Given the description of an element on the screen output the (x, y) to click on. 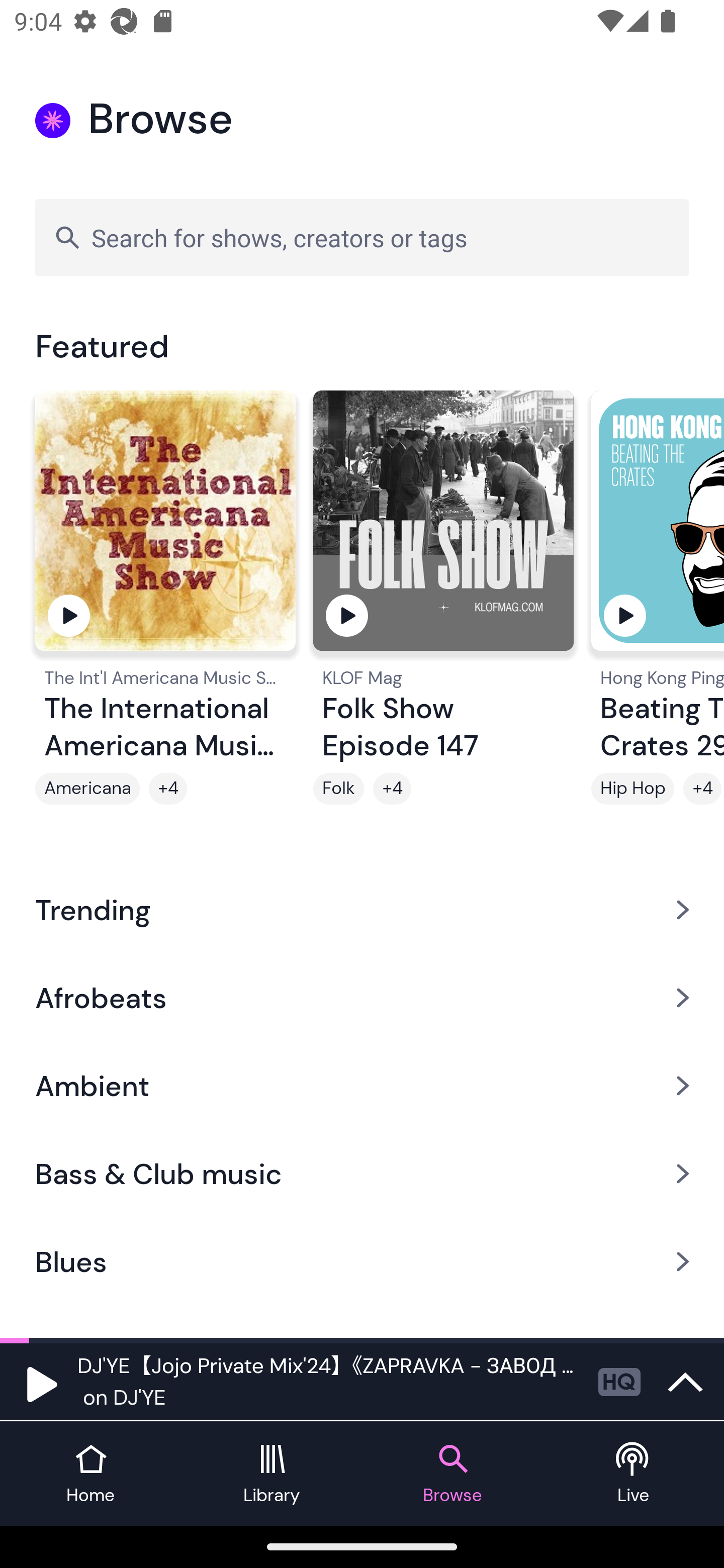
Search for shows, creators or tags (361, 237)
Americana (87, 788)
Folk (338, 788)
Hip Hop (632, 788)
Trending (361, 909)
Afrobeats (361, 997)
Ambient (361, 1085)
Bass & Club music (361, 1174)
Blues (361, 1262)
Home tab Home (90, 1473)
Library tab Library (271, 1473)
Browse tab Browse (452, 1473)
Live tab Live (633, 1473)
